Given the description of an element on the screen output the (x, y) to click on. 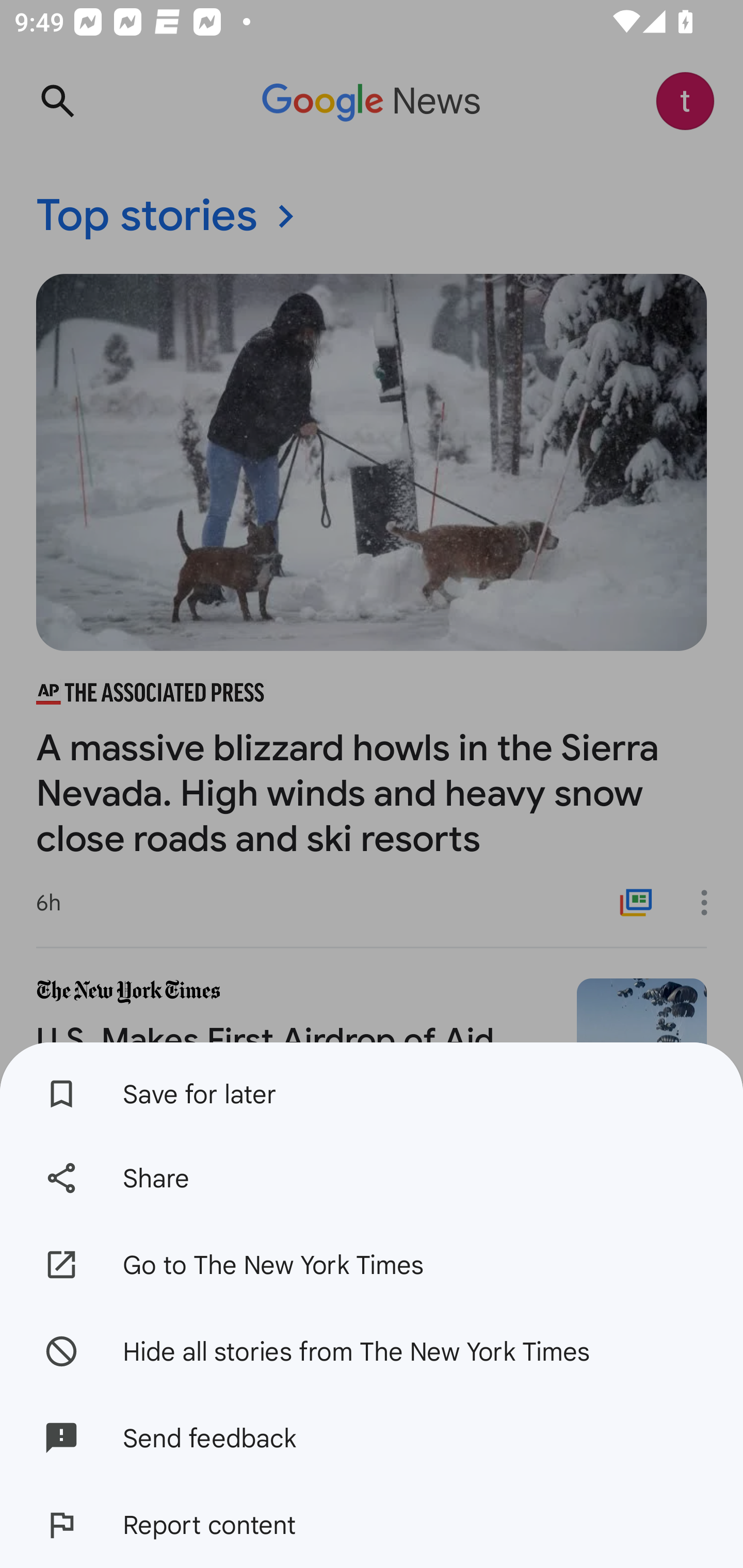
Save for later (371, 1088)
Share (371, 1178)
Go to The New York Times (371, 1264)
Hide all stories from The New York Times (371, 1350)
Send feedback (371, 1437)
Report content (371, 1524)
